Given the description of an element on the screen output the (x, y) to click on. 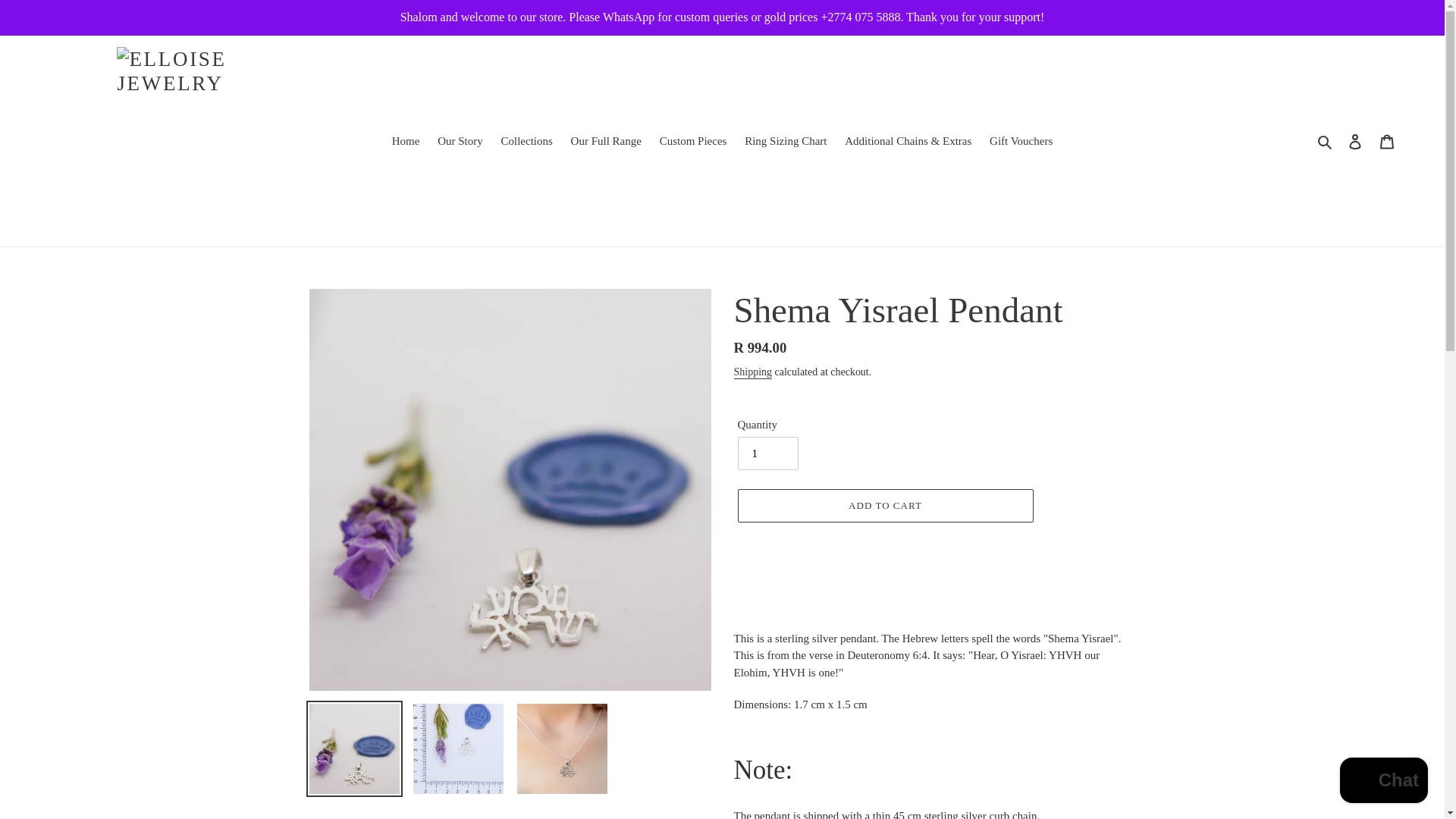
Home (406, 141)
Custom Pieces (693, 141)
Log in (1355, 141)
Collections (526, 141)
Our Full Range (606, 141)
Our Story (459, 141)
Search (1326, 140)
ADD TO CART (884, 505)
Gift Vouchers (1020, 141)
1 (766, 453)
